Given the description of an element on the screen output the (x, y) to click on. 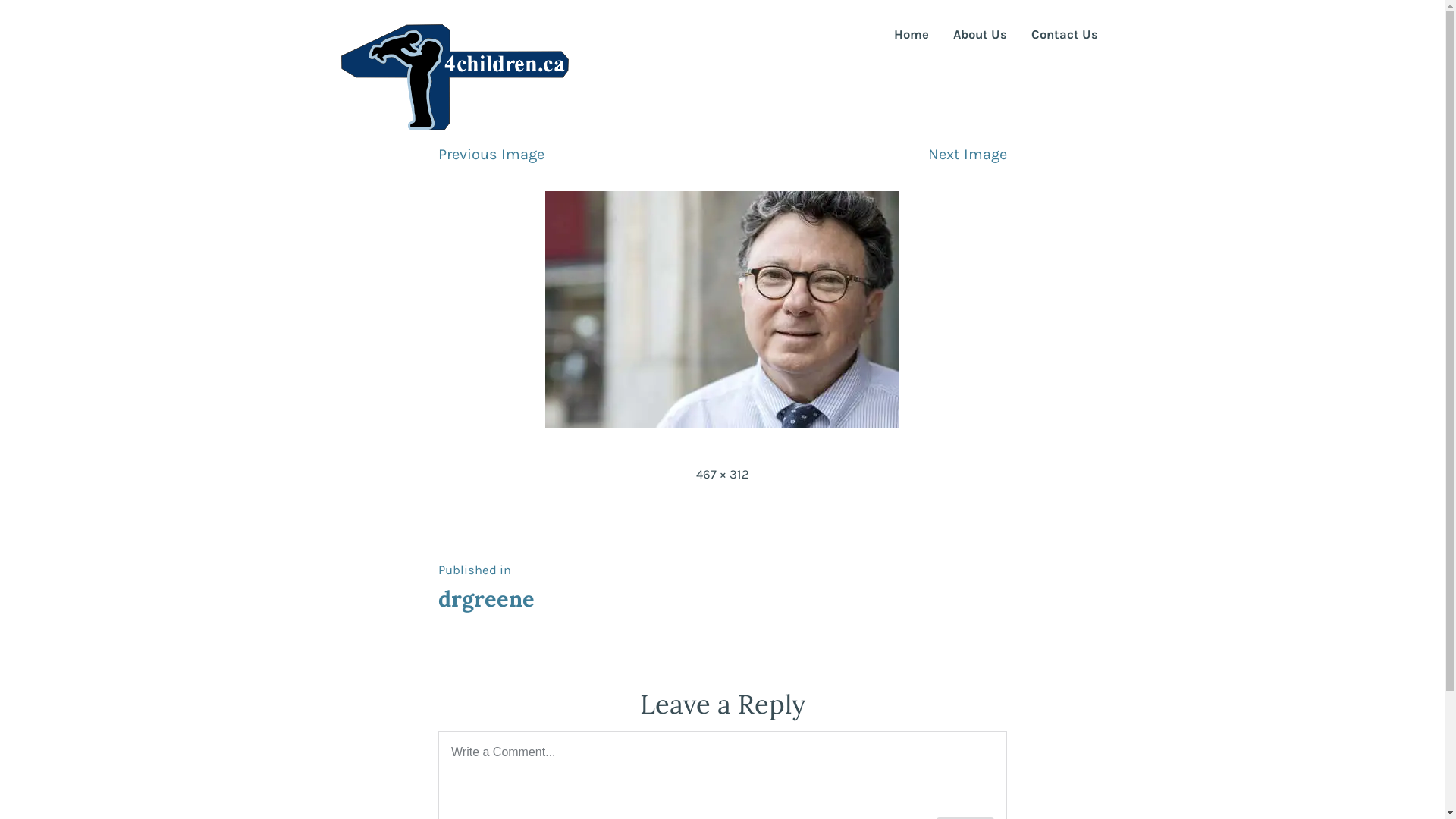
Home Element type: text (910, 35)
About Us Element type: text (979, 35)
Next Image Element type: text (967, 154)
Previous Image Element type: text (491, 154)
Published in
drgreene Element type: text (486, 585)
4children.ca Element type: text (405, 70)
Contact Us Element type: text (1064, 35)
